Given the description of an element on the screen output the (x, y) to click on. 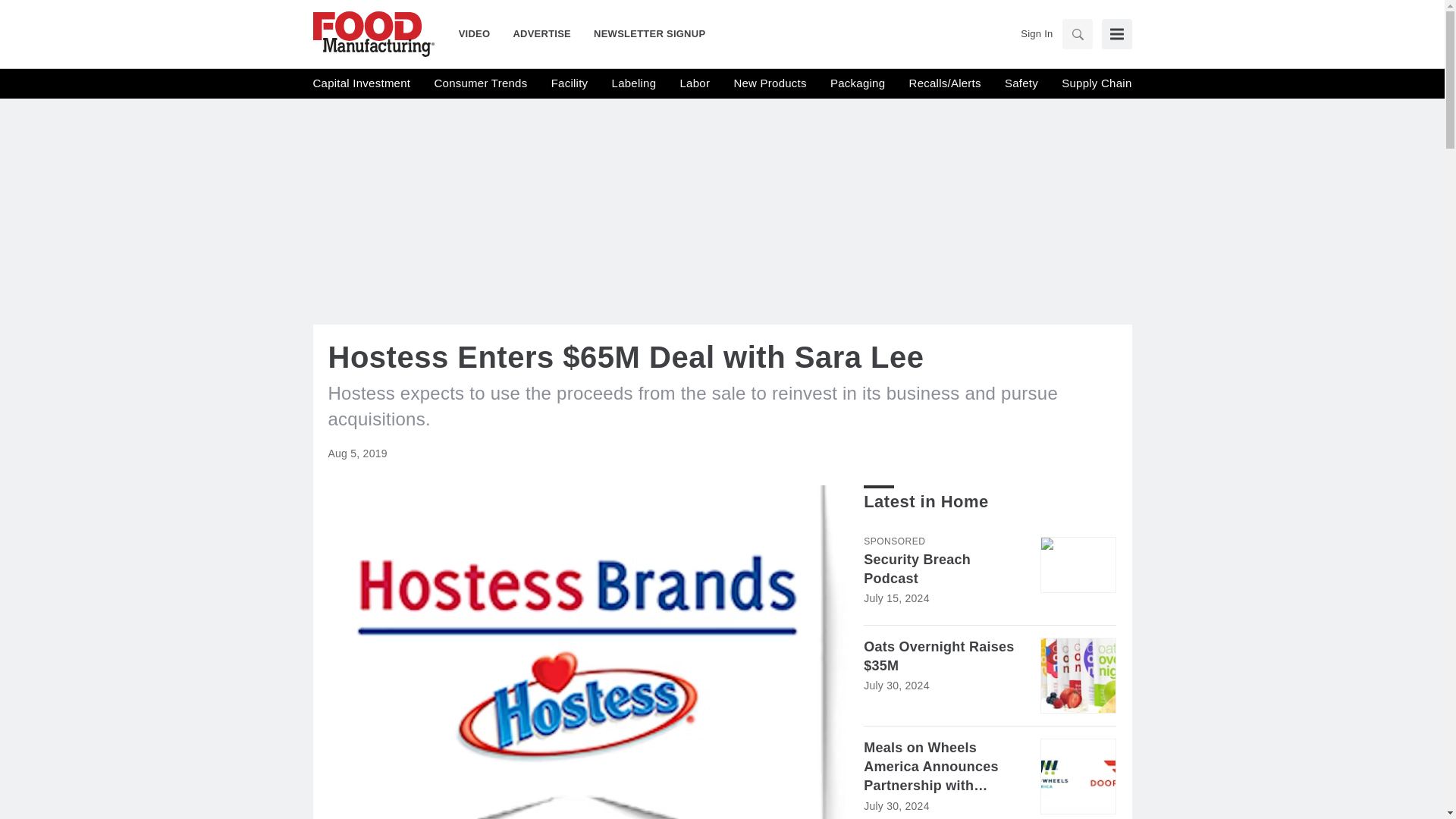
Sponsored (893, 541)
New Products (769, 83)
Sign In (1036, 33)
Supply Chain (1096, 83)
Packaging (857, 83)
ADVERTISE (541, 33)
NEWSLETTER SIGNUP (643, 33)
Safety (1021, 83)
Facility (569, 83)
Consumer Trends (480, 83)
Capital Investment (361, 83)
VIDEO (480, 33)
Labeling (633, 83)
Labor (694, 83)
